Given the description of an element on the screen output the (x, y) to click on. 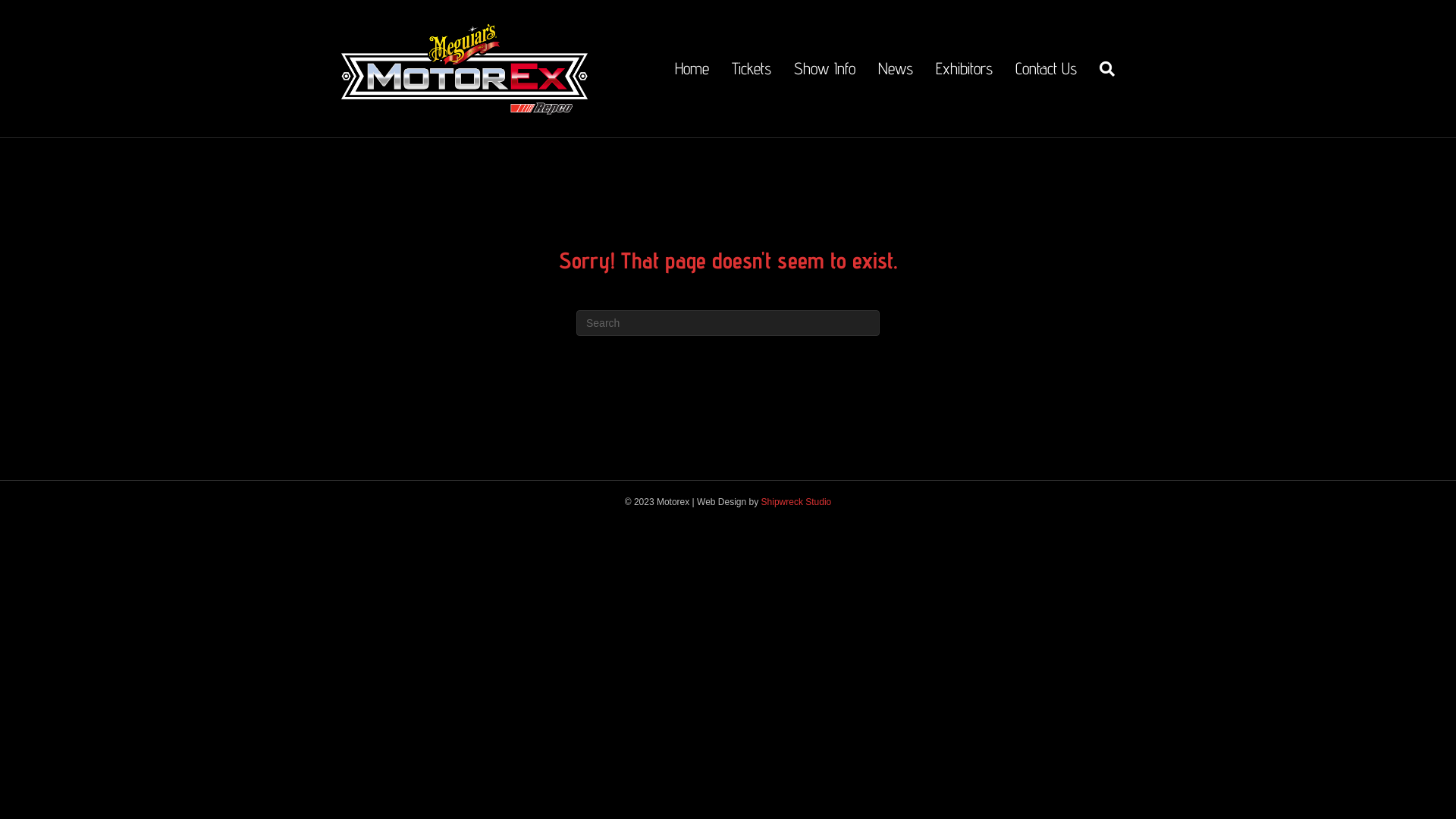
Contact Us Element type: text (1046, 68)
News Element type: text (895, 68)
Type and press Enter to search. Element type: hover (727, 322)
Shipwreck Studio Element type: text (796, 501)
Tickets Element type: text (751, 68)
Show Info Element type: text (824, 68)
Exhibitors Element type: text (964, 68)
Home Element type: text (691, 68)
